Given the description of an element on the screen output the (x, y) to click on. 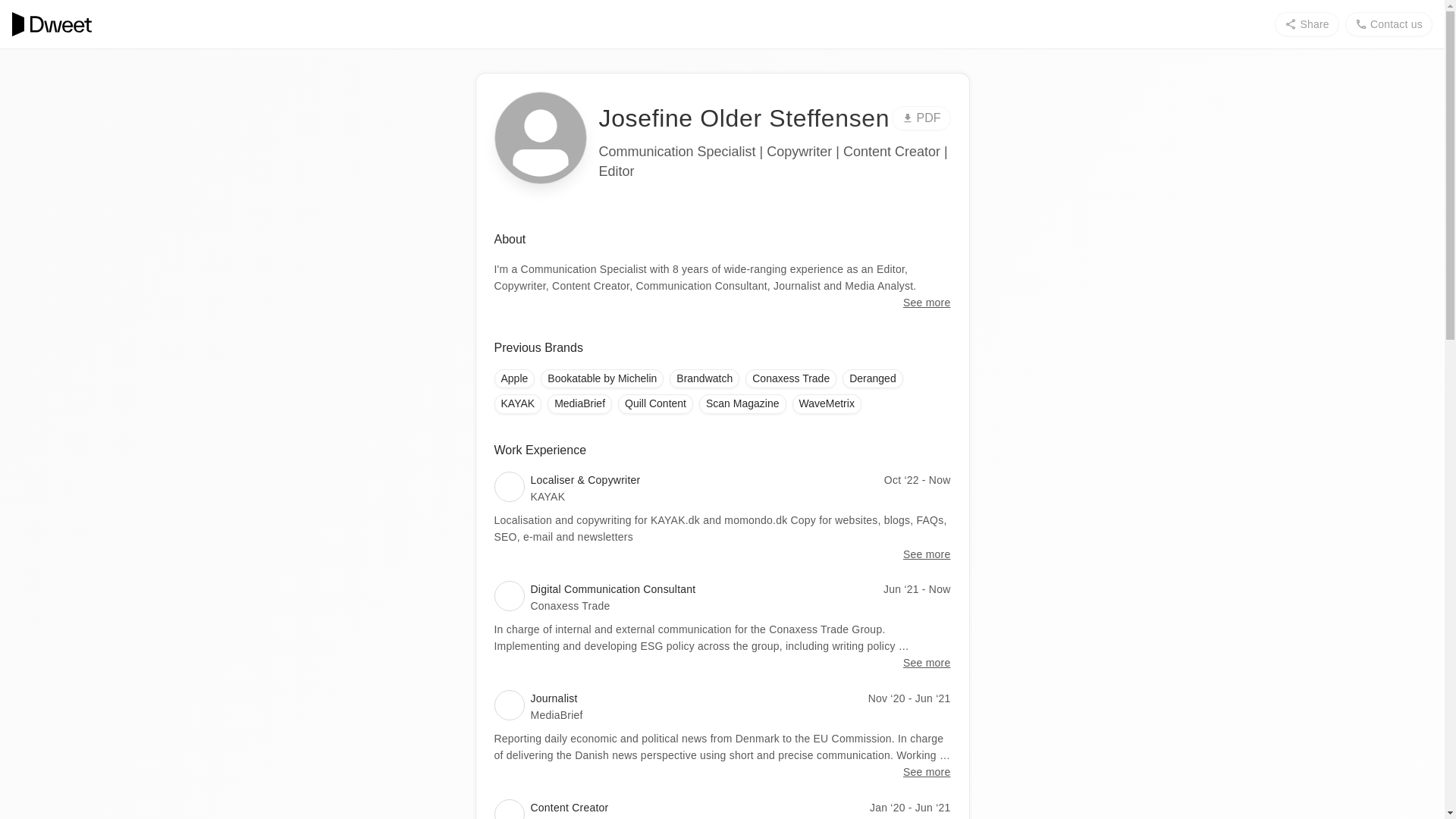
Contact us (1388, 24)
See more (926, 662)
Share (1306, 24)
See more (926, 302)
See more (926, 771)
See more (926, 554)
PDF (920, 118)
